Given the description of an element on the screen output the (x, y) to click on. 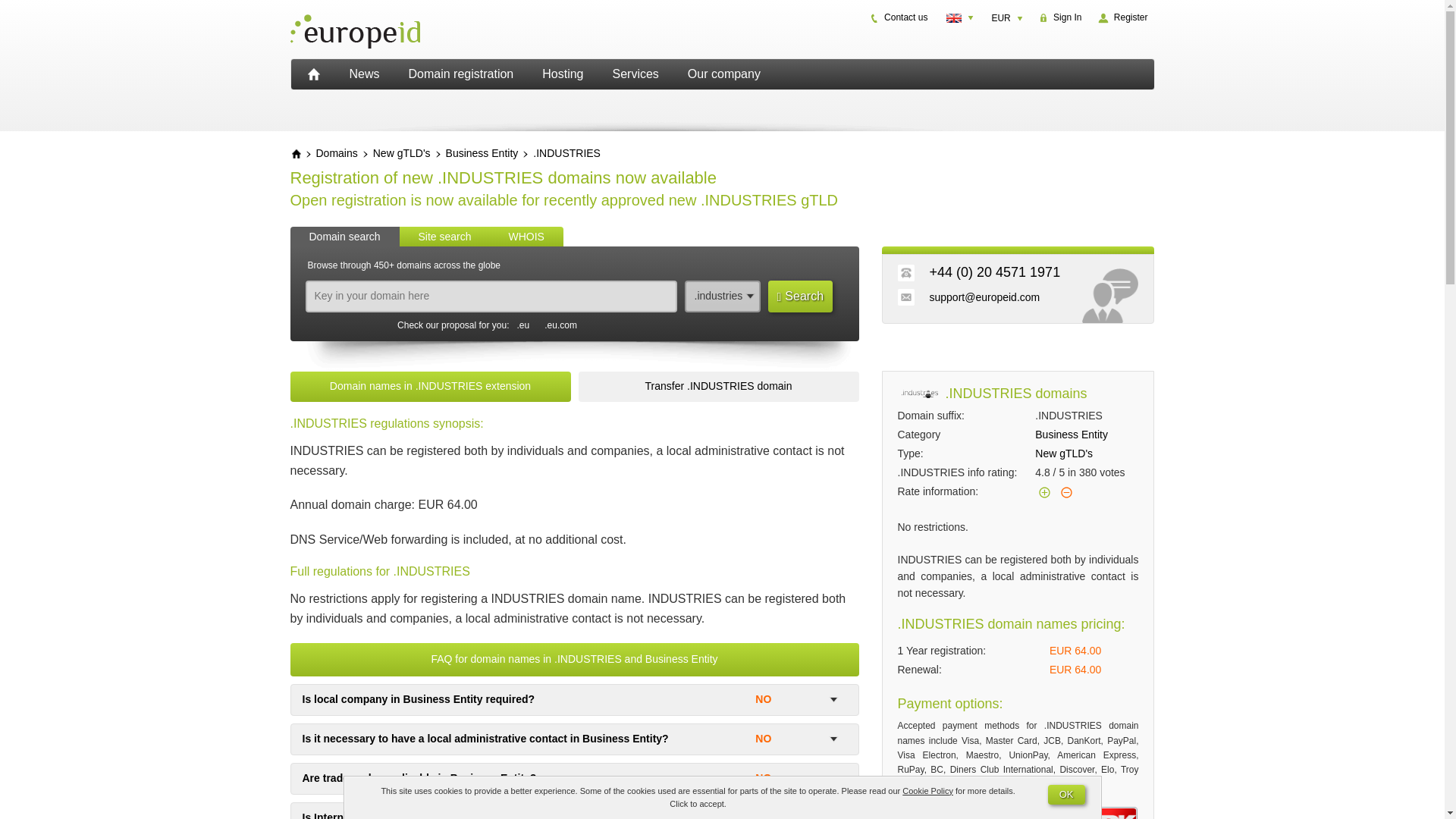
Register (1123, 16)
.INDUSTRIES domains (565, 153)
Domains in Business Entity (481, 153)
Services (634, 73)
EuropeID (313, 73)
Contact us (898, 16)
News (364, 73)
Transfer .INDUSTRIES domain (718, 386)
Domain registration (461, 73)
Hosting (562, 73)
